Given the description of an element on the screen output the (x, y) to click on. 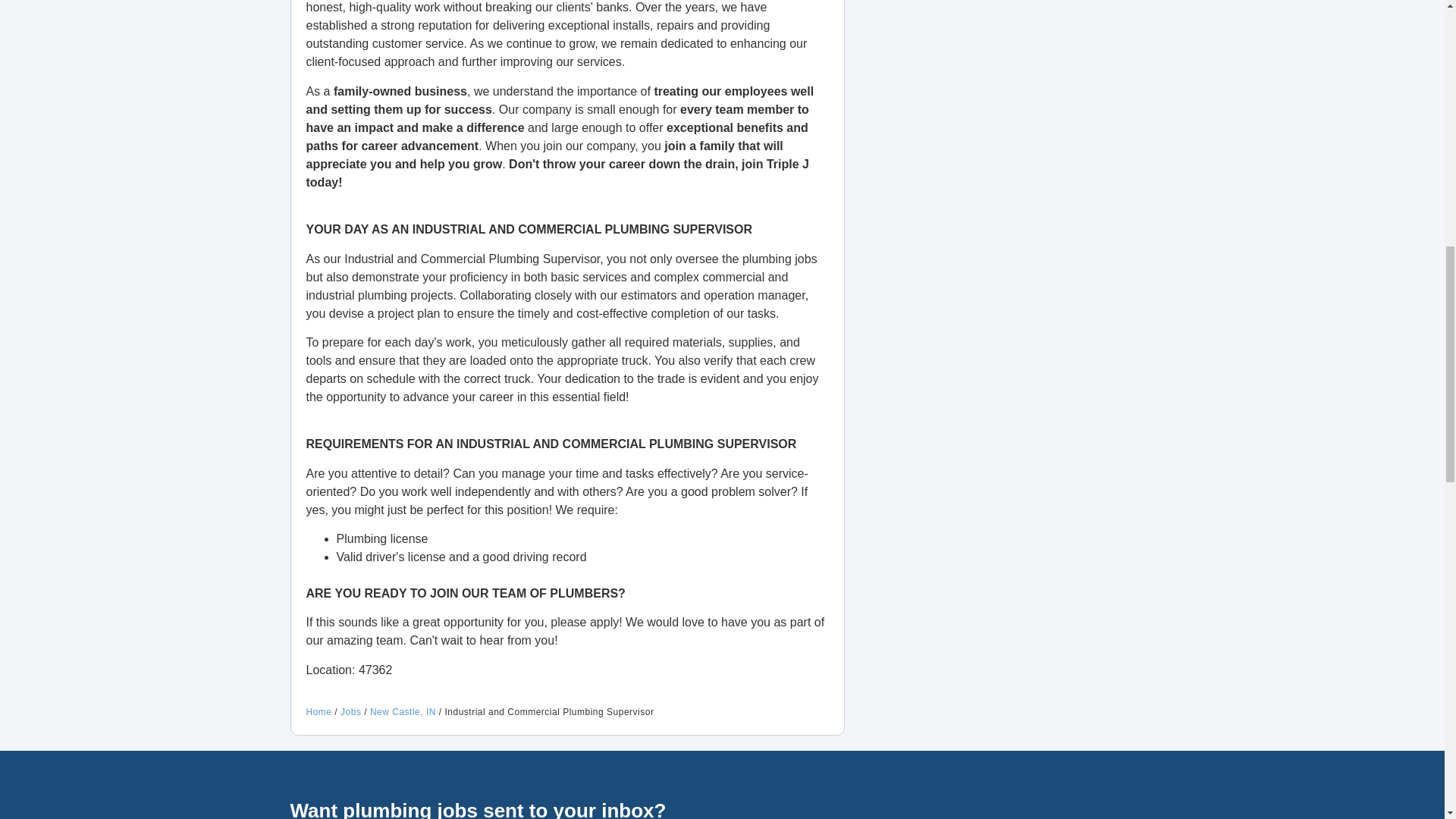
Jobs (350, 711)
Home (318, 711)
New Castle, IN (402, 711)
